Given the description of an element on the screen output the (x, y) to click on. 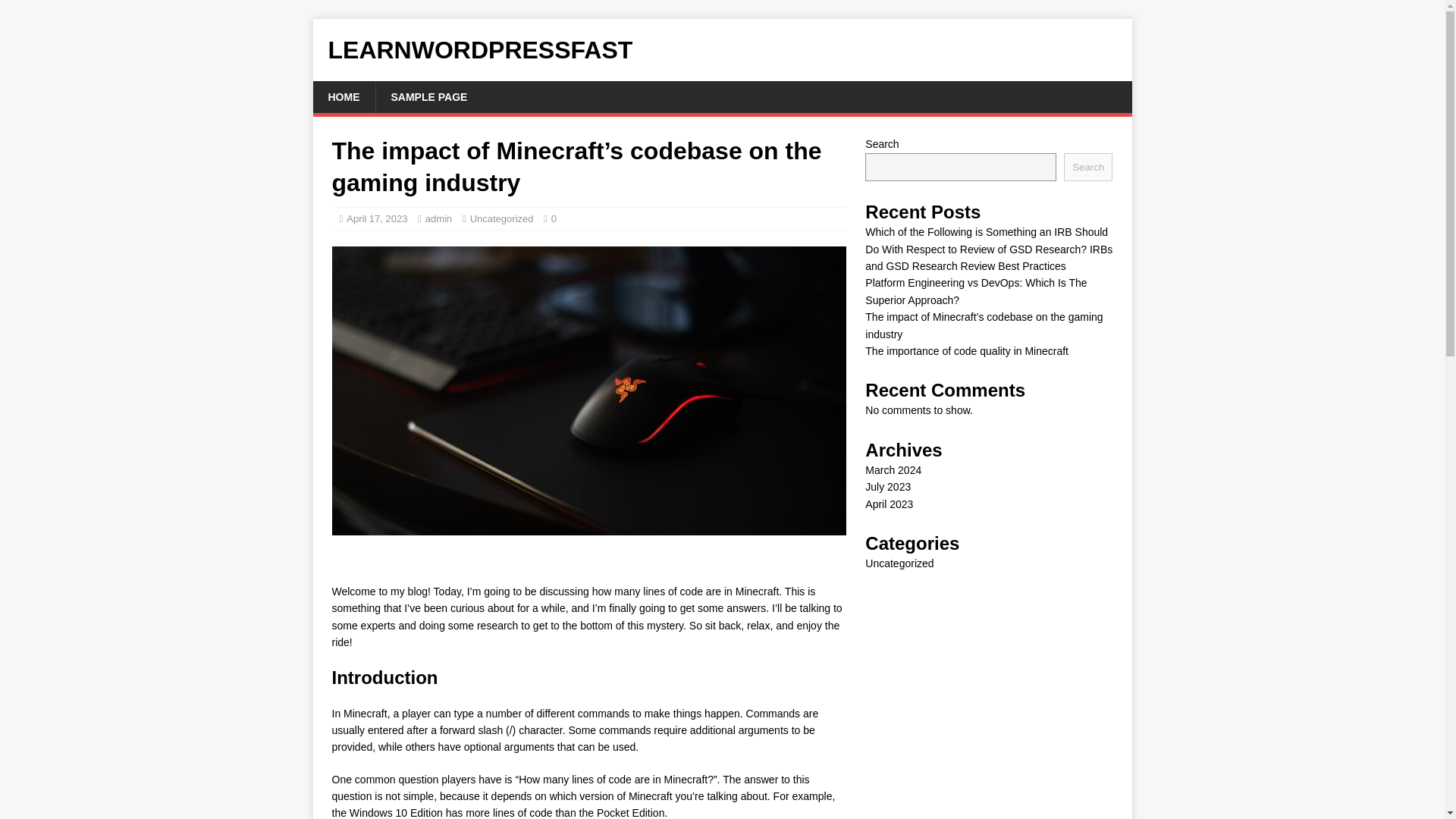
Uncategorized (502, 218)
HOME (343, 97)
Search (1088, 166)
Uncategorized (898, 563)
LEARNWORDPRESSFAST (721, 49)
SAMPLE PAGE (427, 97)
July 2023 (887, 486)
